Given the description of an element on the screen output the (x, y) to click on. 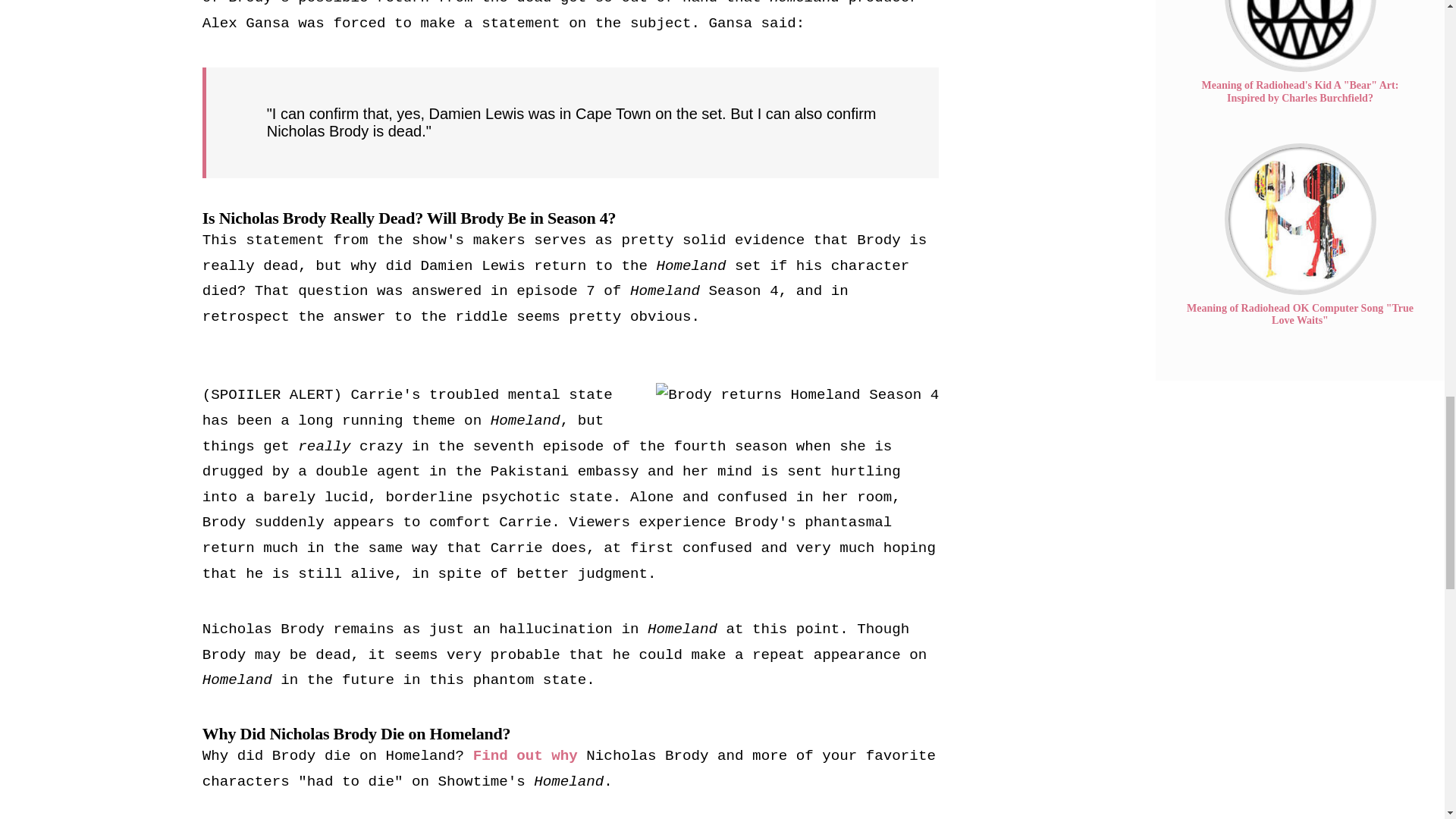
Meaning of Radiohead OK Computer Song  (1299, 218)
Meaning of Radiohead's Kid A  (1299, 36)
Find out why (517, 755)
Meaning of Radiohead OK Computer Song "True Love Waits" (1299, 314)
